Given the description of an element on the screen output the (x, y) to click on. 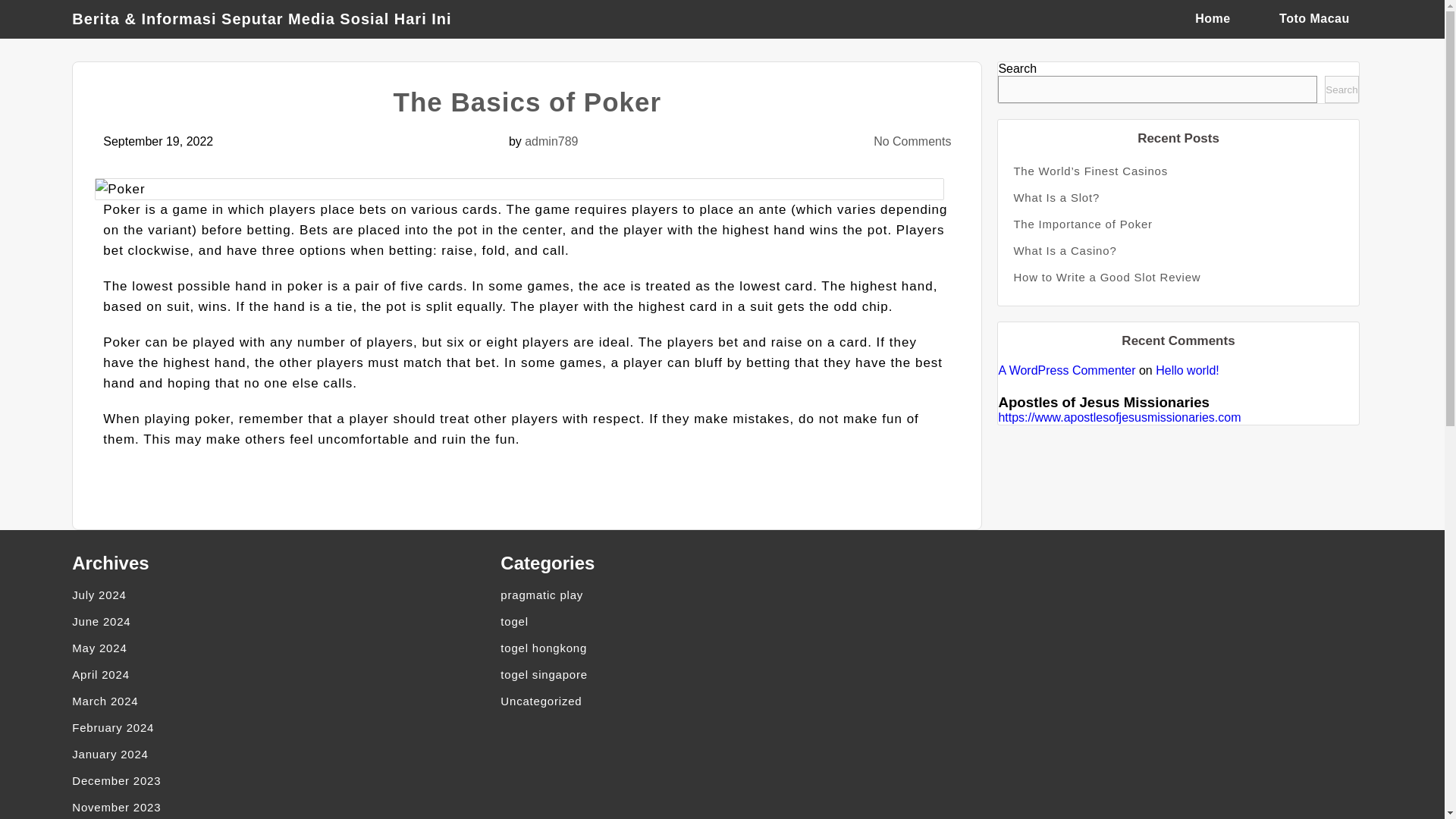
A WordPress Commenter (1066, 369)
January 2024 (285, 754)
Hello world! (1188, 369)
April 2024 (285, 673)
No Comments (911, 141)
March 2024 (285, 700)
Home (1212, 18)
What Is a Casino? (1177, 250)
December 2023 (285, 780)
June 2024 (285, 621)
July 2024 (285, 594)
admin789 (551, 141)
The Importance of Poker (1177, 223)
May 2024 (285, 647)
February 2024 (285, 727)
